Given the description of an element on the screen output the (x, y) to click on. 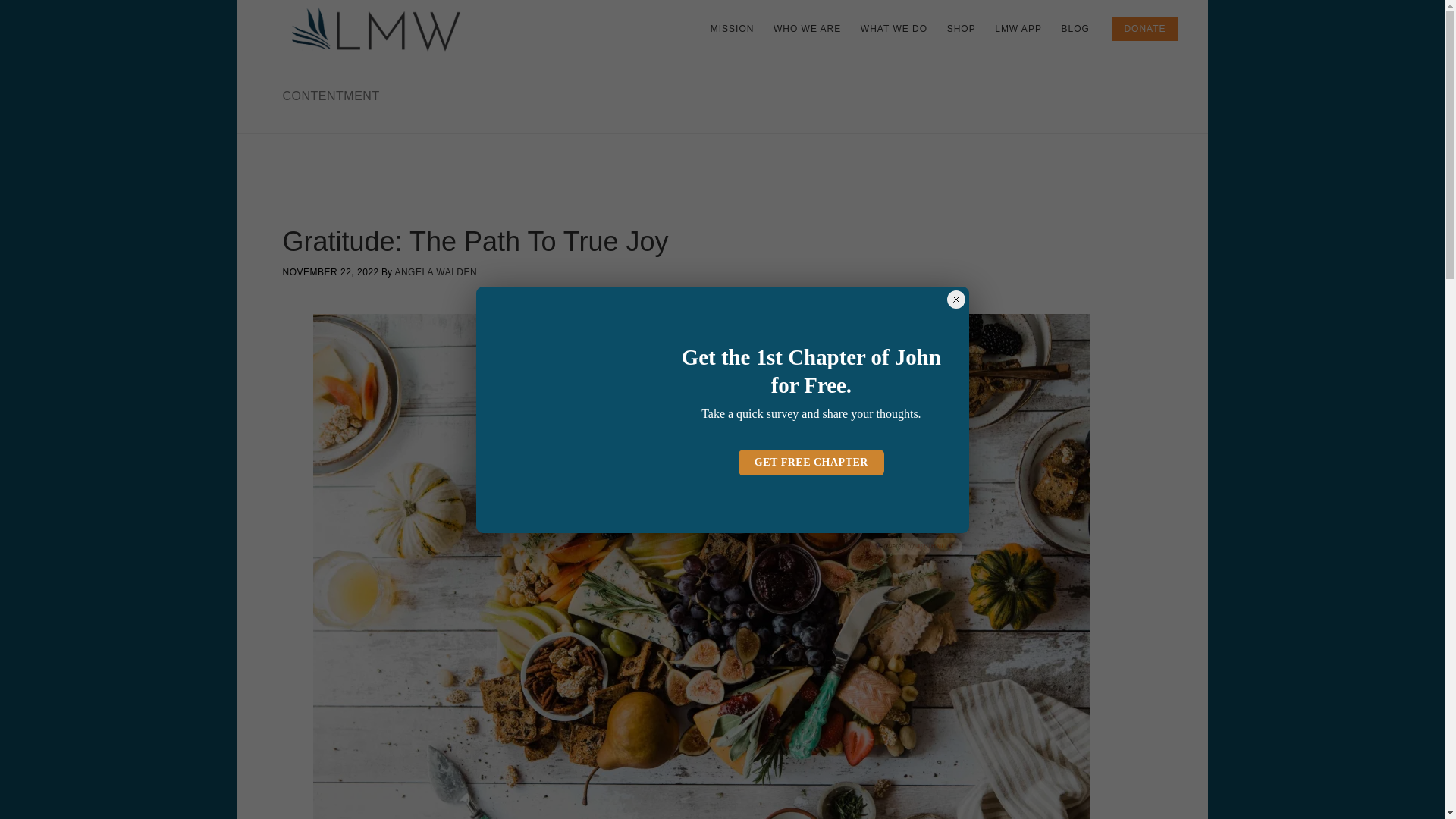
LEADERSHIP MINISTRIES WORLDWIDE (380, 28)
JOURNITY (933, 545)
GET FREE CHAPTER (810, 462)
LMW APP (1018, 28)
MISSION (732, 28)
SHOP (961, 28)
WHAT WE DO (893, 28)
BLOG (1074, 28)
Gratitude: The Path To True Joy (475, 241)
WHO WE ARE (806, 28)
